Given the description of an element on the screen output the (x, y) to click on. 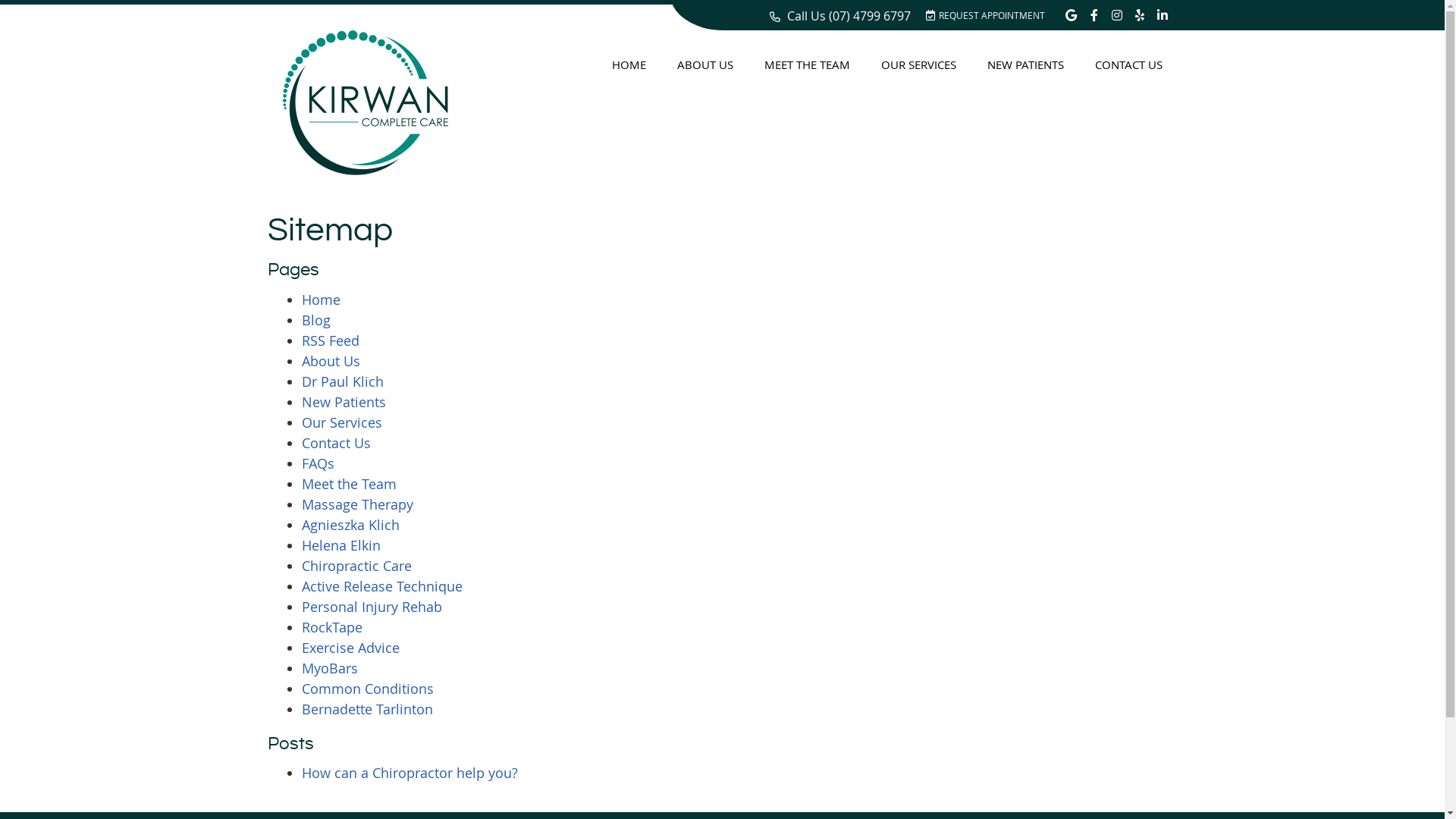
RSS Feed Element type: text (330, 340)
Bernadette Tarlinton Element type: text (367, 708)
New Patients Element type: text (343, 401)
Instagram Social Button Element type: text (1116, 15)
MEET THE TEAM Element type: text (807, 64)
Massage Therapy Element type: text (357, 504)
NEW PATIENTS Element type: text (1025, 64)
Contact Us Element type: text (335, 442)
HOME Element type: text (628, 64)
ABOUT US Element type: text (704, 64)
Chiropractic Care Element type: text (356, 565)
Personal Injury Rehab Element type: text (371, 606)
FAQs Element type: text (317, 463)
How can a Chiropractor help you? Element type: text (409, 772)
(07) 4799 6797 Element type: text (869, 15)
Facebook Social Button Element type: text (1093, 15)
MyoBars Element type: text (329, 667)
Exercise Advice Element type: text (350, 647)
Google Social Button Element type: text (1070, 15)
Our Services Element type: text (341, 422)
About Us Element type: text (330, 360)
Helena Elkin Element type: text (340, 545)
Active Release Technique Element type: text (381, 586)
Linkedin Social Button Element type: text (1161, 15)
Home Element type: text (320, 299)
OUR SERVICES Element type: text (919, 64)
RockTape Element type: text (331, 627)
Kirwan Complete Care Element type: text (364, 169)
Meet the Team Element type: text (348, 483)
Common Conditions Element type: text (367, 688)
Agnieszka Klich Element type: text (350, 524)
Dr Paul Klich Element type: text (342, 381)
REQUEST APPOINTMENT Element type: text (984, 14)
CONTACT US Element type: text (1128, 64)
Blog Element type: text (315, 319)
Yelp Social Button Element type: text (1138, 15)
